Given the description of an element on the screen output the (x, y) to click on. 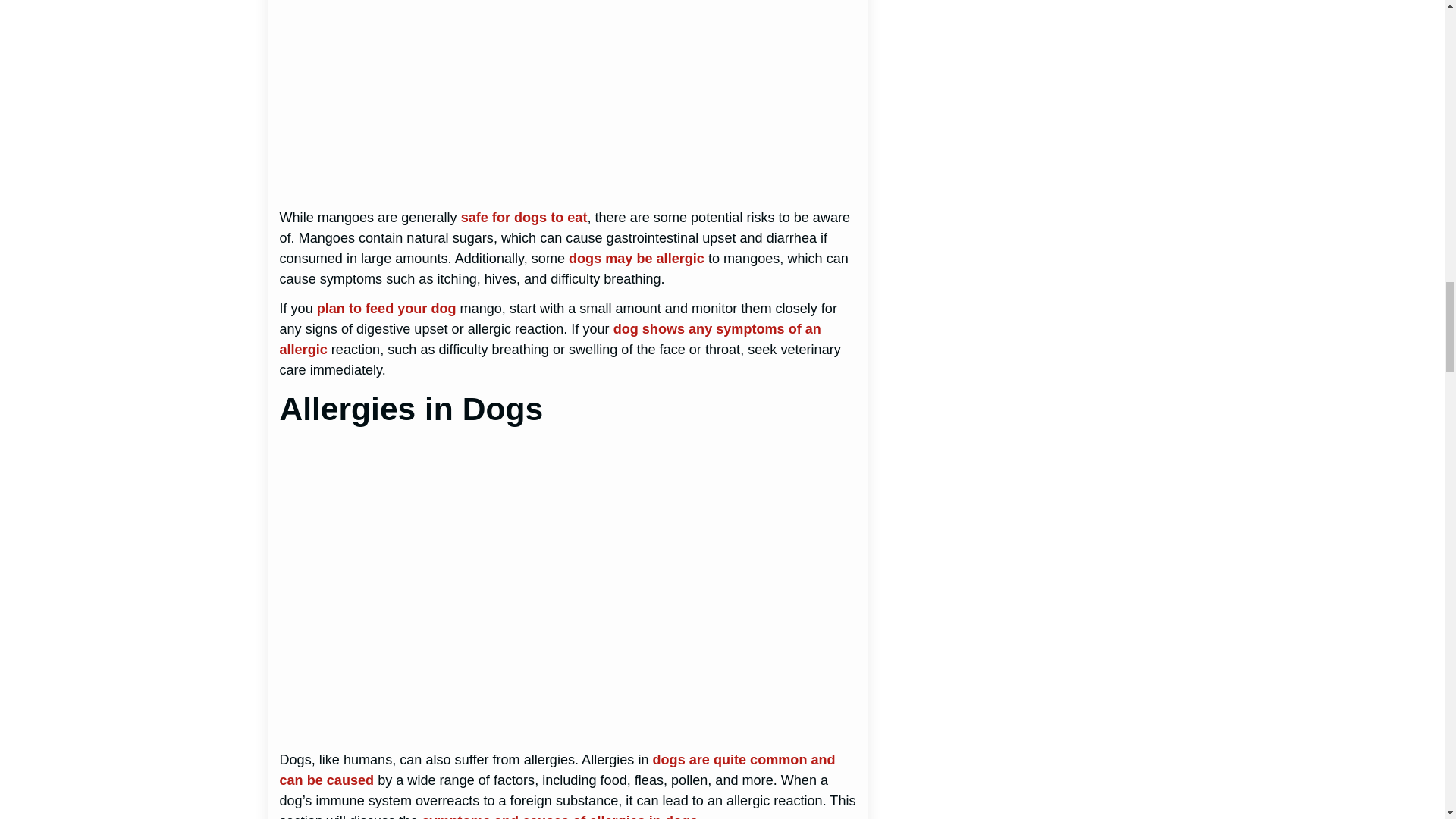
dogs may be allergic (636, 258)
safe for dogs to eat (524, 217)
